Given the description of an element on the screen output the (x, y) to click on. 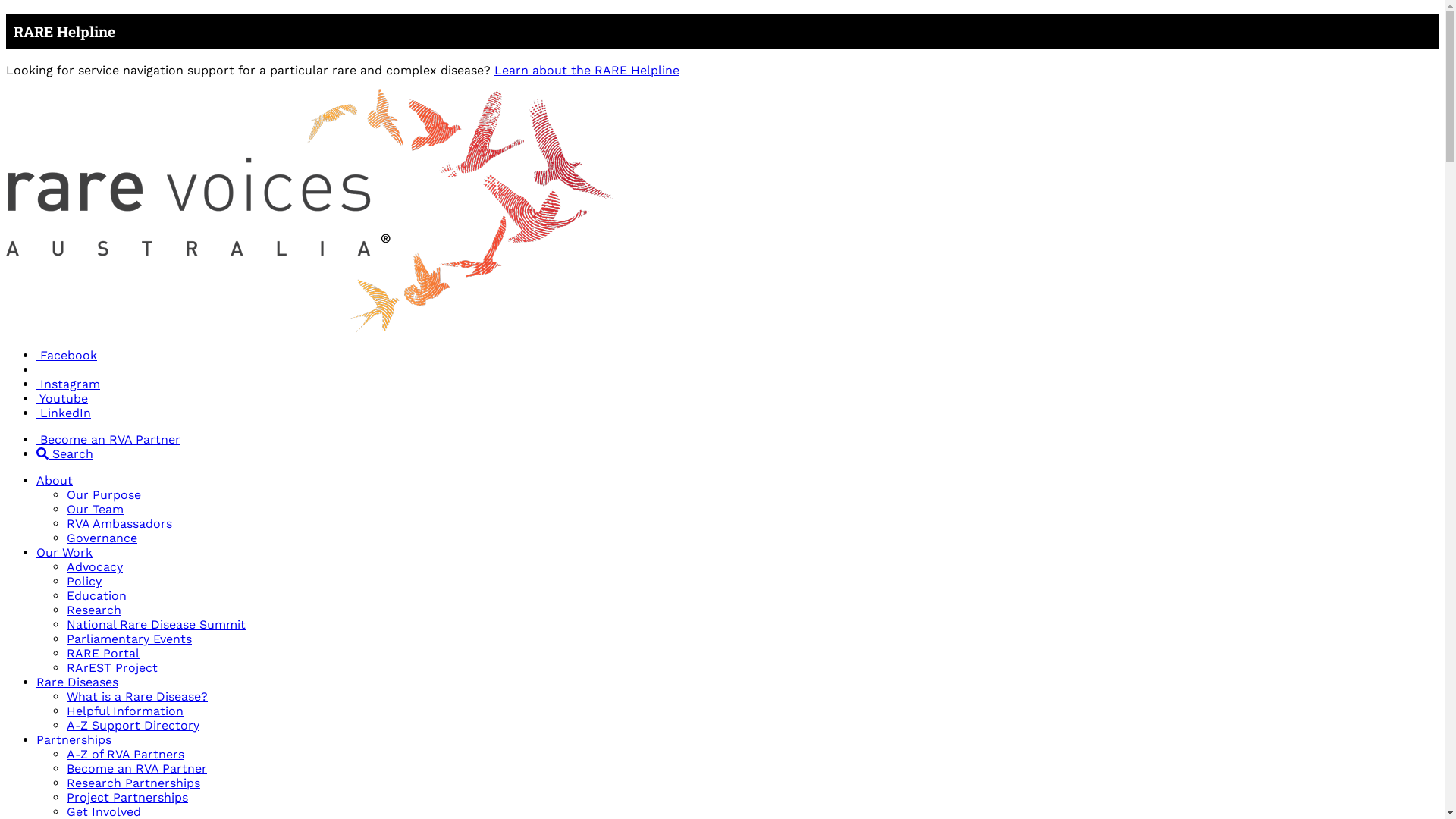
Our Team Element type: text (94, 509)
What is a Rare Disease? Element type: text (136, 696)
RArEST Project Element type: text (111, 667)
Parliamentary Events Element type: text (128, 638)
Search Element type: text (64, 453)
Become an RVA Partner Element type: text (136, 768)
Rare Diseases Element type: text (77, 681)
Research Partnerships Element type: text (133, 782)
Become an RVA Partner Element type: text (108, 439)
Youtube Element type: text (61, 398)
A-Z Support Directory Element type: text (132, 725)
National Rare Disease Summit Element type: text (155, 624)
Governance Element type: text (101, 537)
RARE Portal Element type: text (102, 653)
A-Z of RVA Partners Element type: text (125, 753)
Research Element type: text (93, 609)
Skip to content Element type: text (5, 13)
Our Work Element type: text (64, 552)
Education Element type: text (96, 595)
Advocacy Element type: text (94, 566)
Helpful Information Element type: text (124, 710)
About Element type: text (54, 480)
Policy Element type: text (83, 581)
RVA Ambassadors Element type: text (119, 523)
Our Purpose Element type: text (103, 494)
Project Partnerships Element type: text (127, 797)
Learn about the RARE Helpline Element type: text (586, 69)
Partnerships Element type: text (73, 739)
Instagram Element type: text (68, 383)
Facebook Element type: text (66, 355)
LinkedIn Element type: text (63, 412)
